Given the description of an element on the screen output the (x, y) to click on. 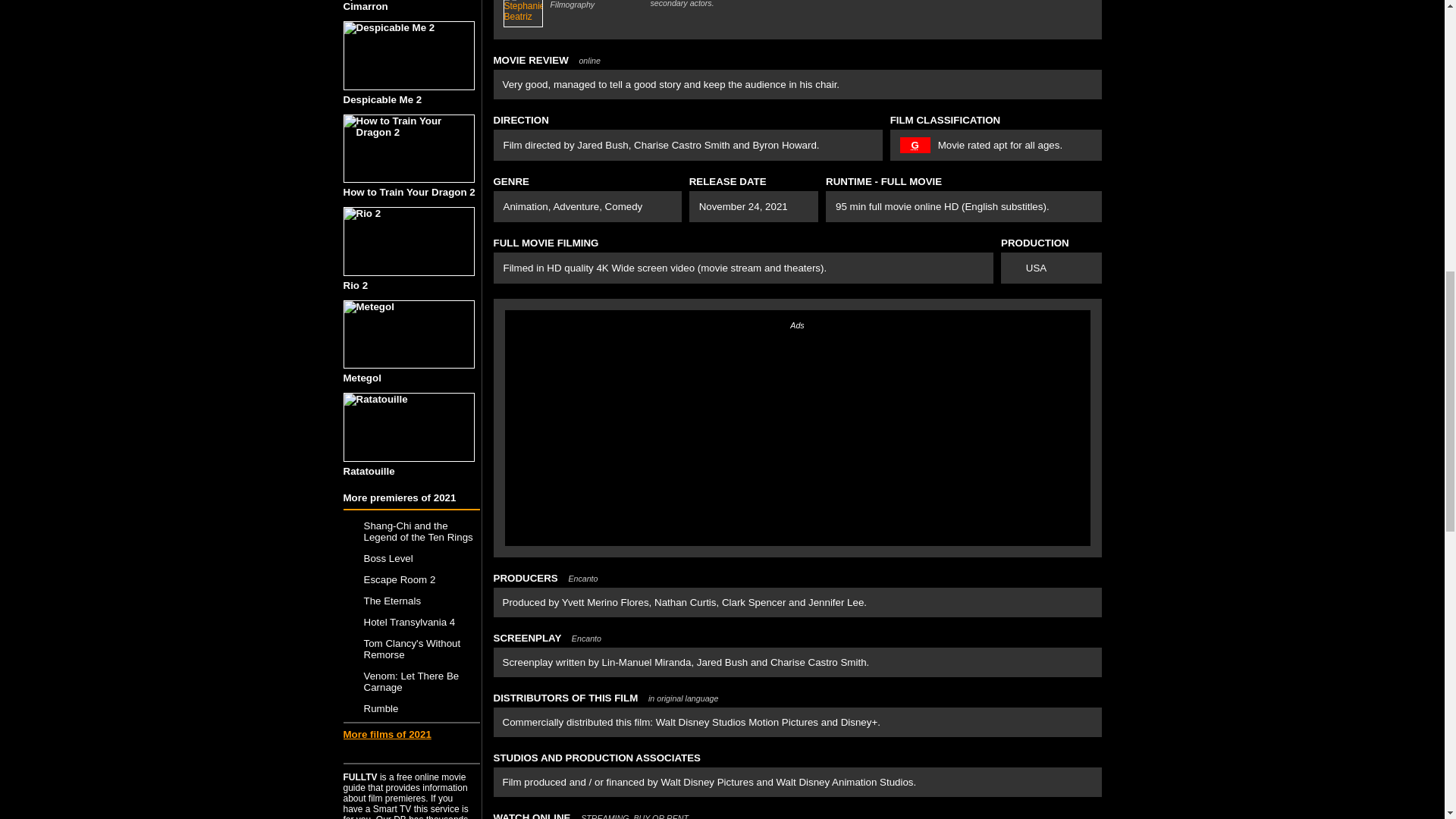
Despicable Me 2, movie (408, 55)
Spirit: Stallion of the Cimarron (410, 6)
Despicable Me 2 (410, 63)
Rio 2, movie (408, 241)
How to Train Your Dragon 2, movie (408, 148)
